Given the description of an element on the screen output the (x, y) to click on. 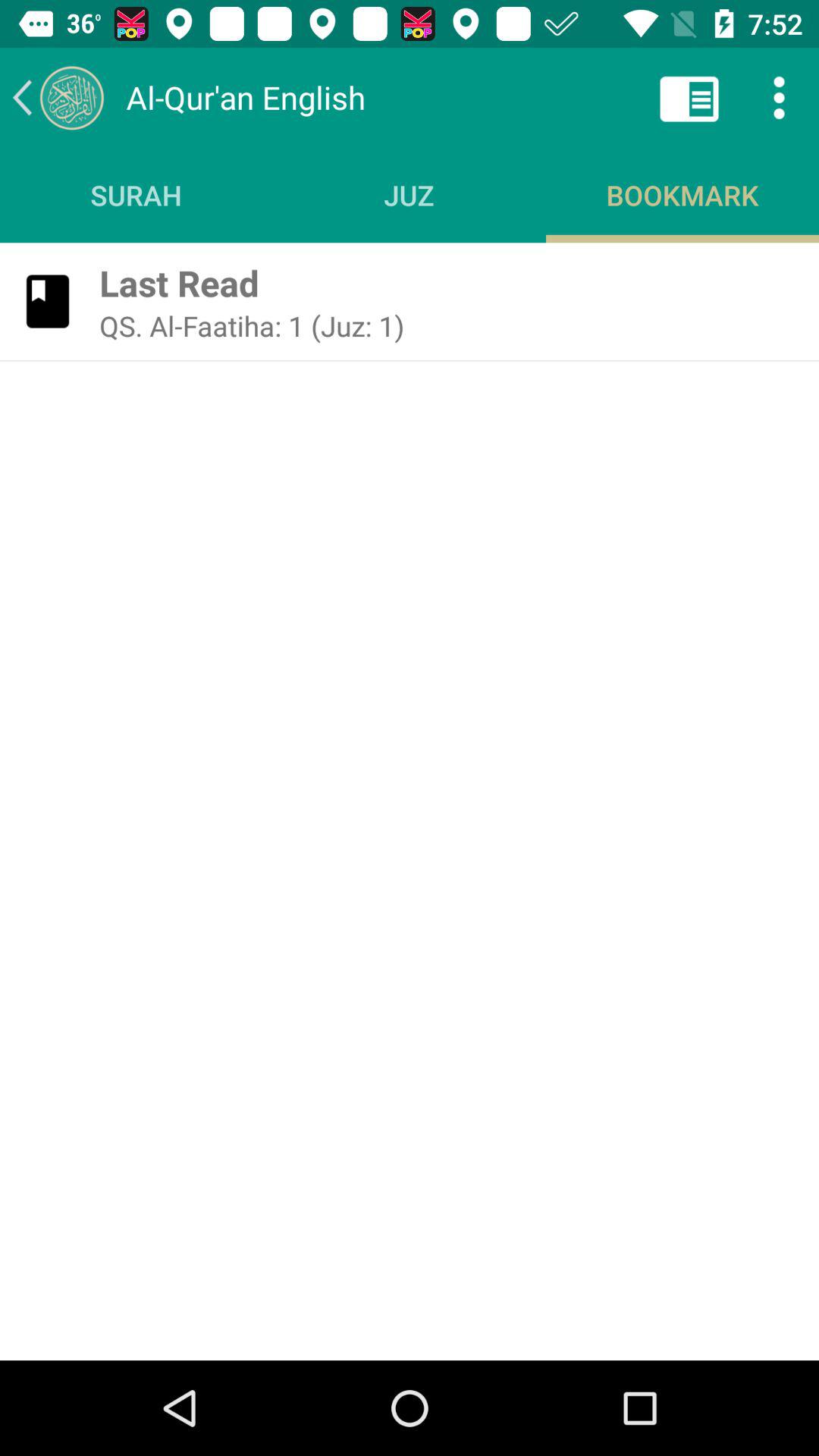
press the icon next to the al qur an icon (58, 97)
